Given the description of an element on the screen output the (x, y) to click on. 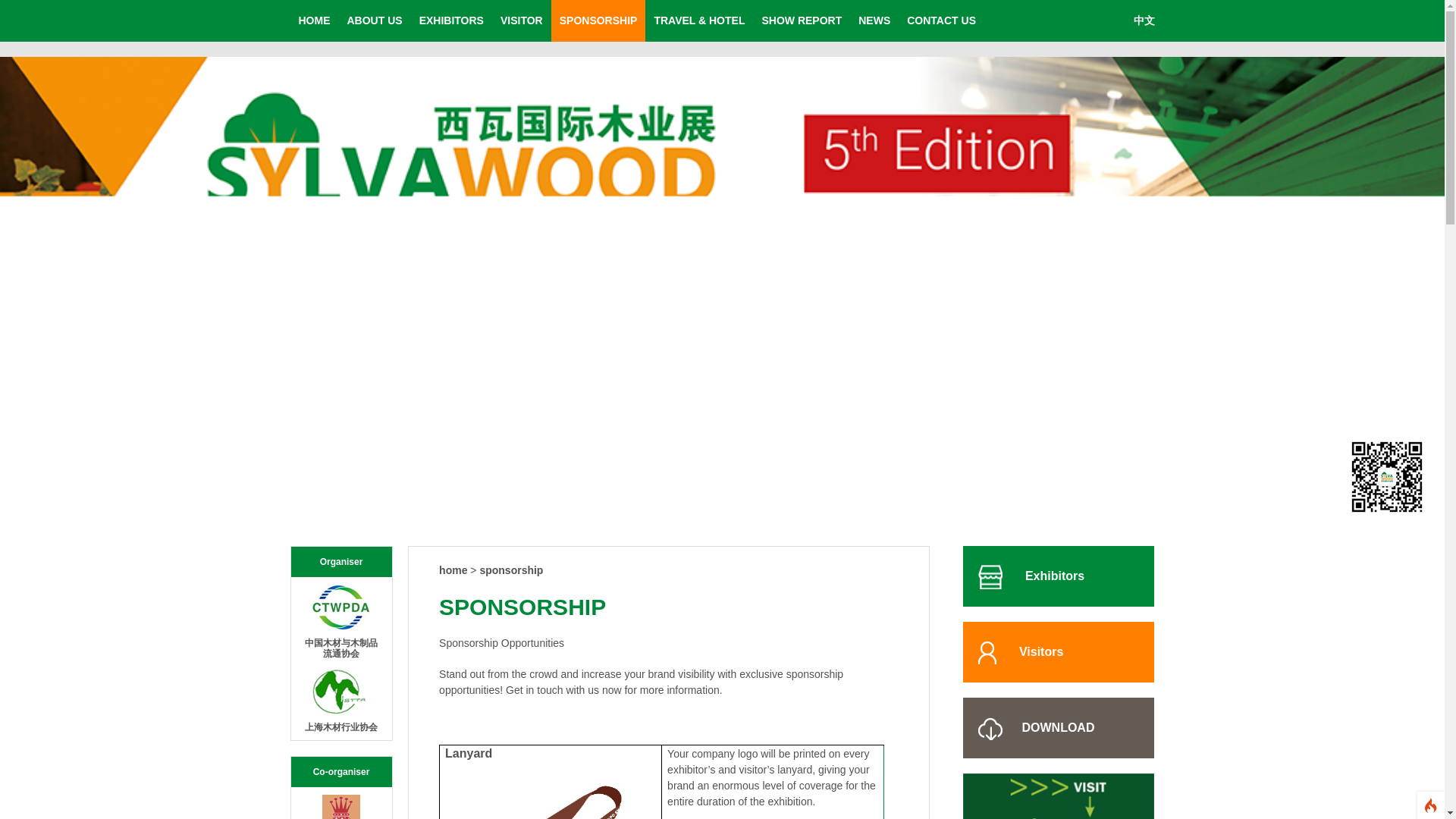
EXHIBITORS (451, 20)
ABOUT US (373, 20)
HOME (313, 20)
SHOW REPORT (801, 20)
NEWS (874, 20)
CONTACT US (941, 20)
VISITOR (521, 20)
SPONSORSHIP (598, 20)
